Given the description of an element on the screen output the (x, y) to click on. 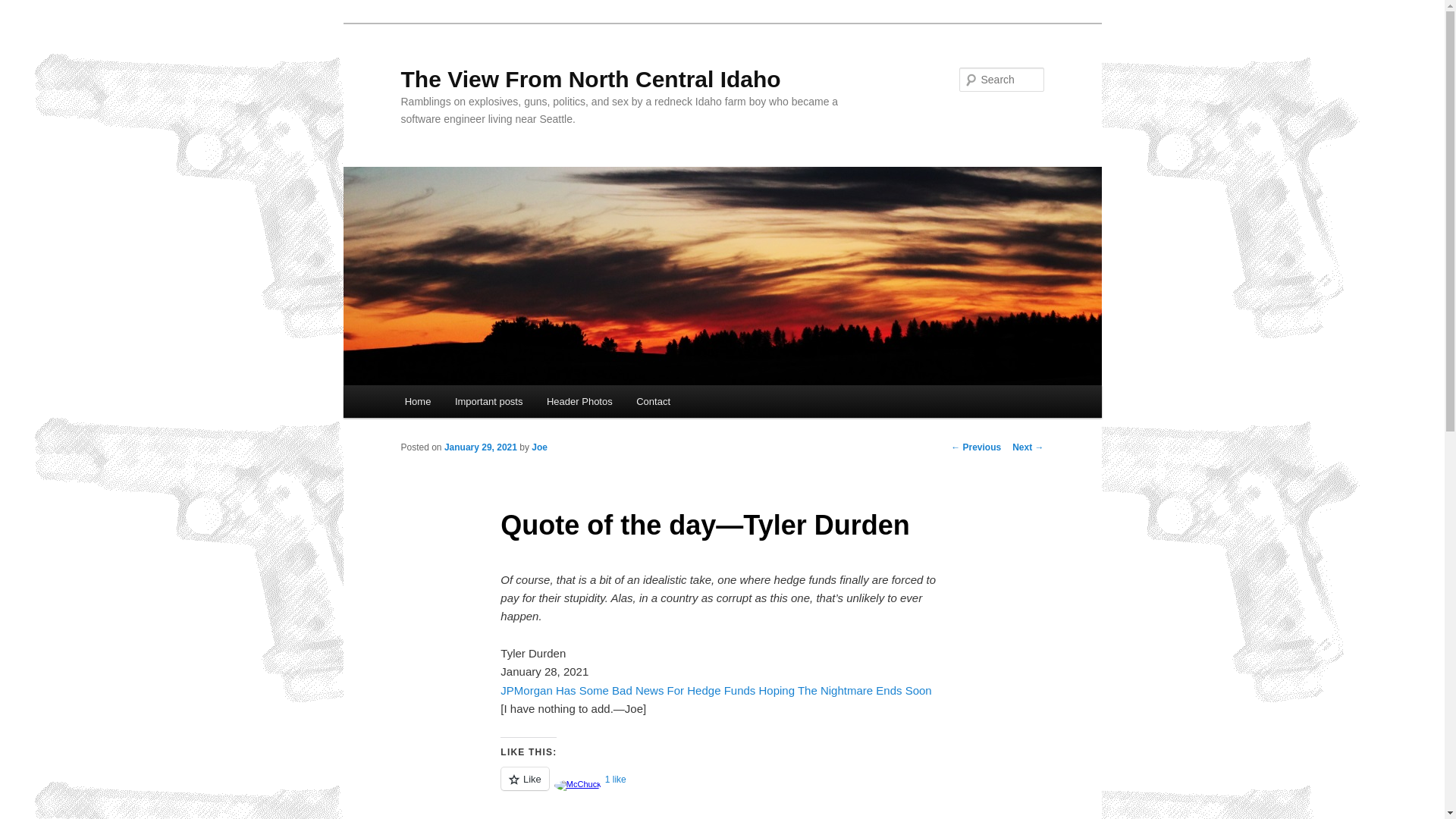
Home (417, 400)
January 29, 2021 (480, 447)
View all posts by Joe (539, 447)
Joe (539, 447)
Header Photos (579, 400)
6:00 am (480, 447)
The View From North Central Idaho (590, 78)
Contact (652, 400)
Like or Reblog (721, 787)
Important posts (488, 400)
Search (24, 8)
